Given the description of an element on the screen output the (x, y) to click on. 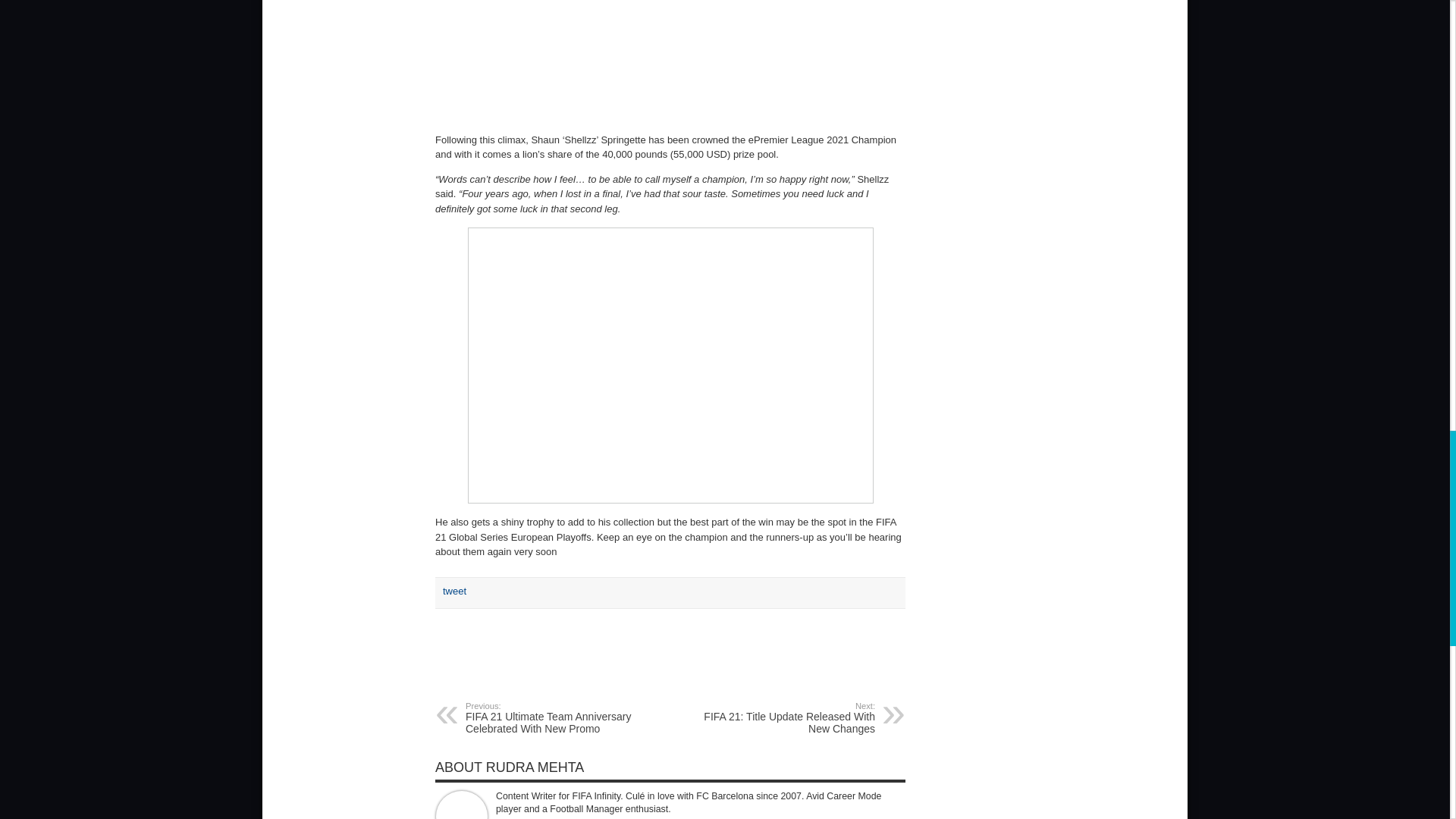
tweet (781, 717)
